Given the description of an element on the screen output the (x, y) to click on. 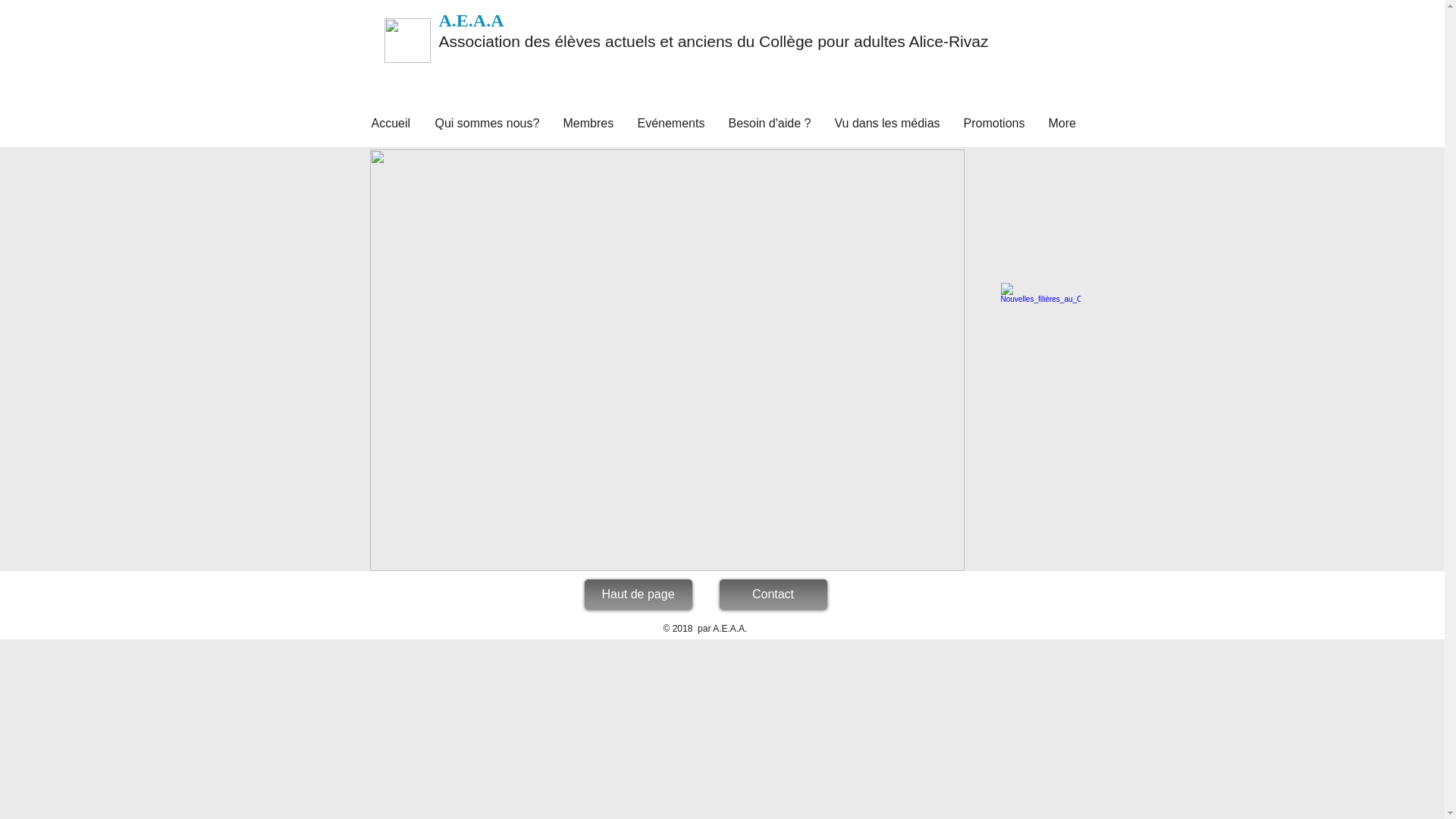
Contact Element type: text (772, 594)
Haut de page Element type: text (637, 594)
Promotions Element type: text (994, 123)
Membres Element type: text (589, 123)
Accueil Element type: text (391, 123)
Besoin d'aide ? Element type: text (770, 123)
Qui sommes nous? Element type: text (487, 123)
